Given the description of an element on the screen output the (x, y) to click on. 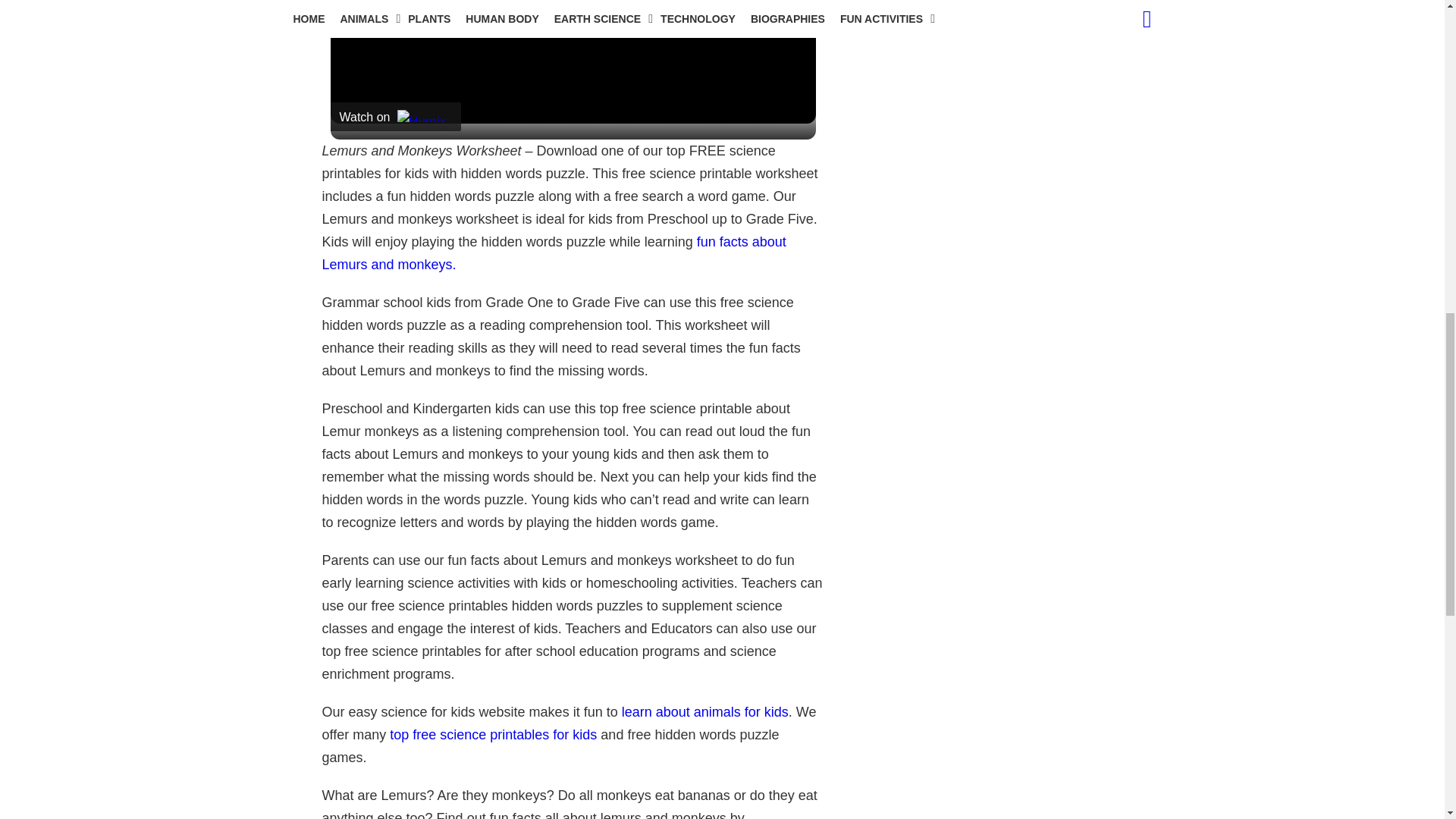
Learn About Animals for Kids (705, 711)
Top FREE Science Printables for Kids (493, 734)
All About Lemurs and Monkeys (553, 252)
